Given the description of an element on the screen output the (x, y) to click on. 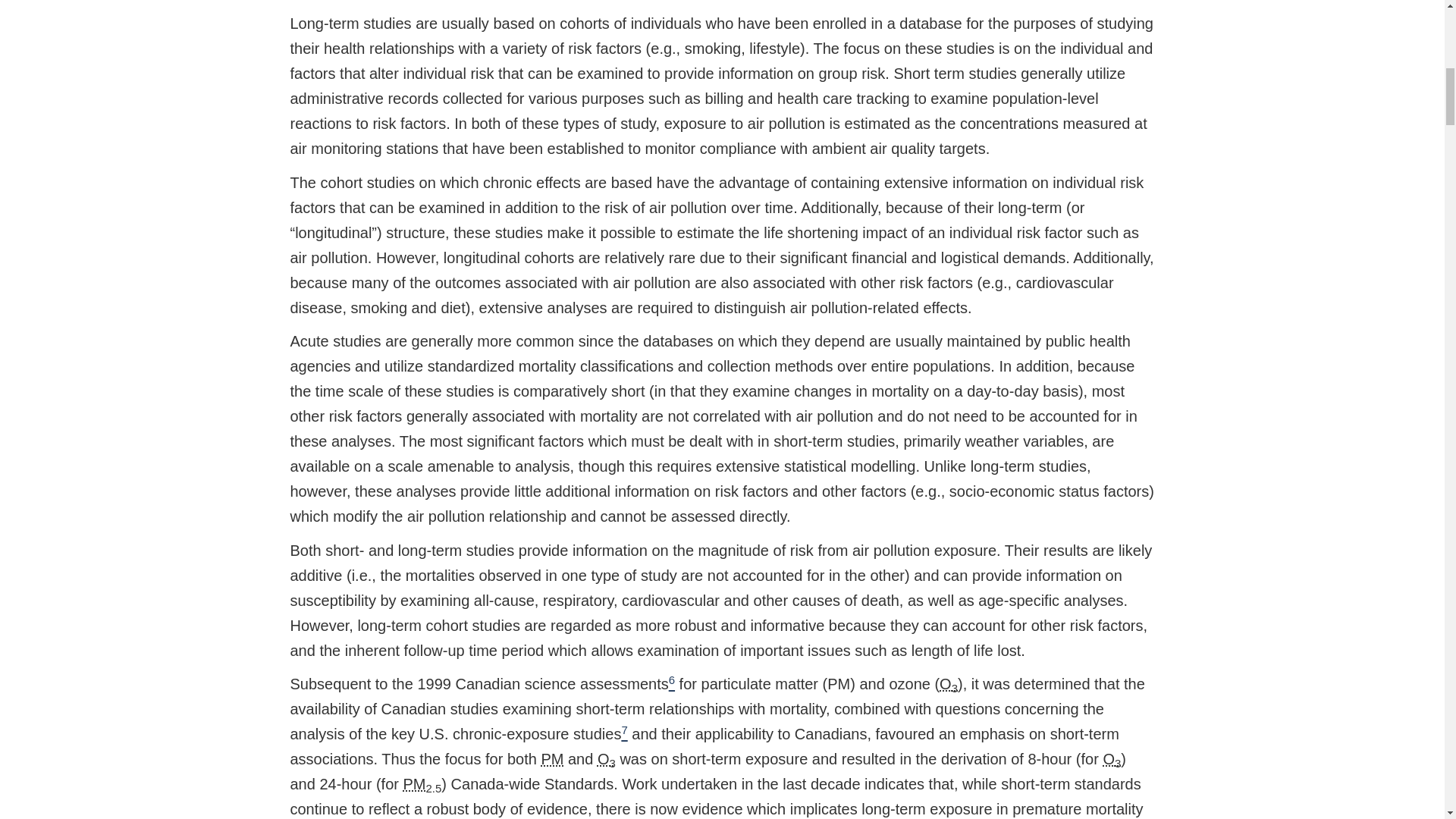
ozone (948, 683)
